Given the description of an element on the screen output the (x, y) to click on. 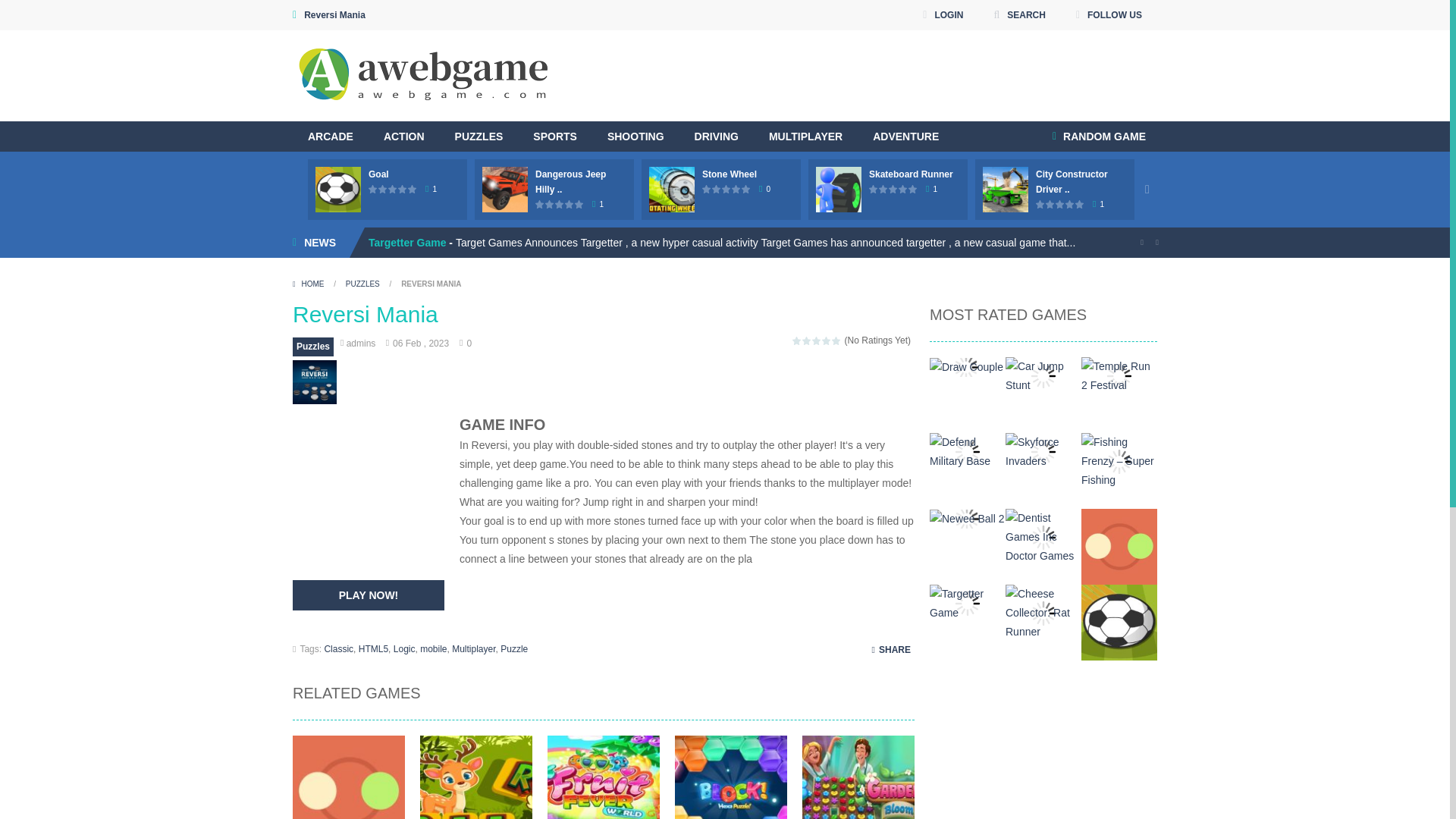
awebgame (424, 73)
SPORTS (555, 136)
PUZZLES (478, 136)
Play a random game! (1099, 136)
SHOOTING (635, 136)
0 votes, average: 0.00 out of 5 (373, 189)
LOGIN (942, 15)
City Constructor Driver .. (1071, 181)
awebgame (424, 72)
0 votes, average: 0.00 out of 5 (392, 189)
